Given the description of an element on the screen output the (x, y) to click on. 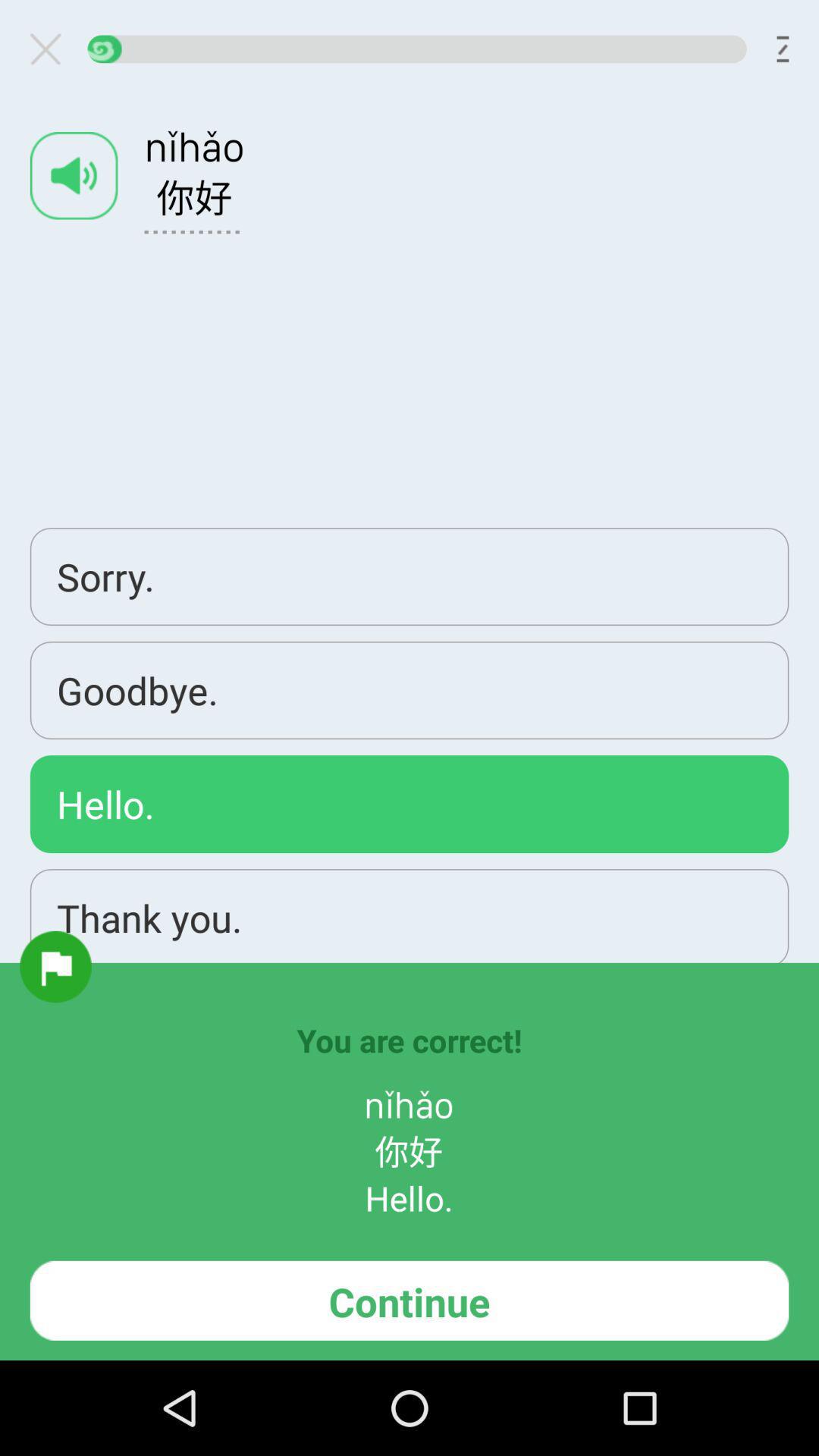
speaker (73, 175)
